Given the description of an element on the screen output the (x, y) to click on. 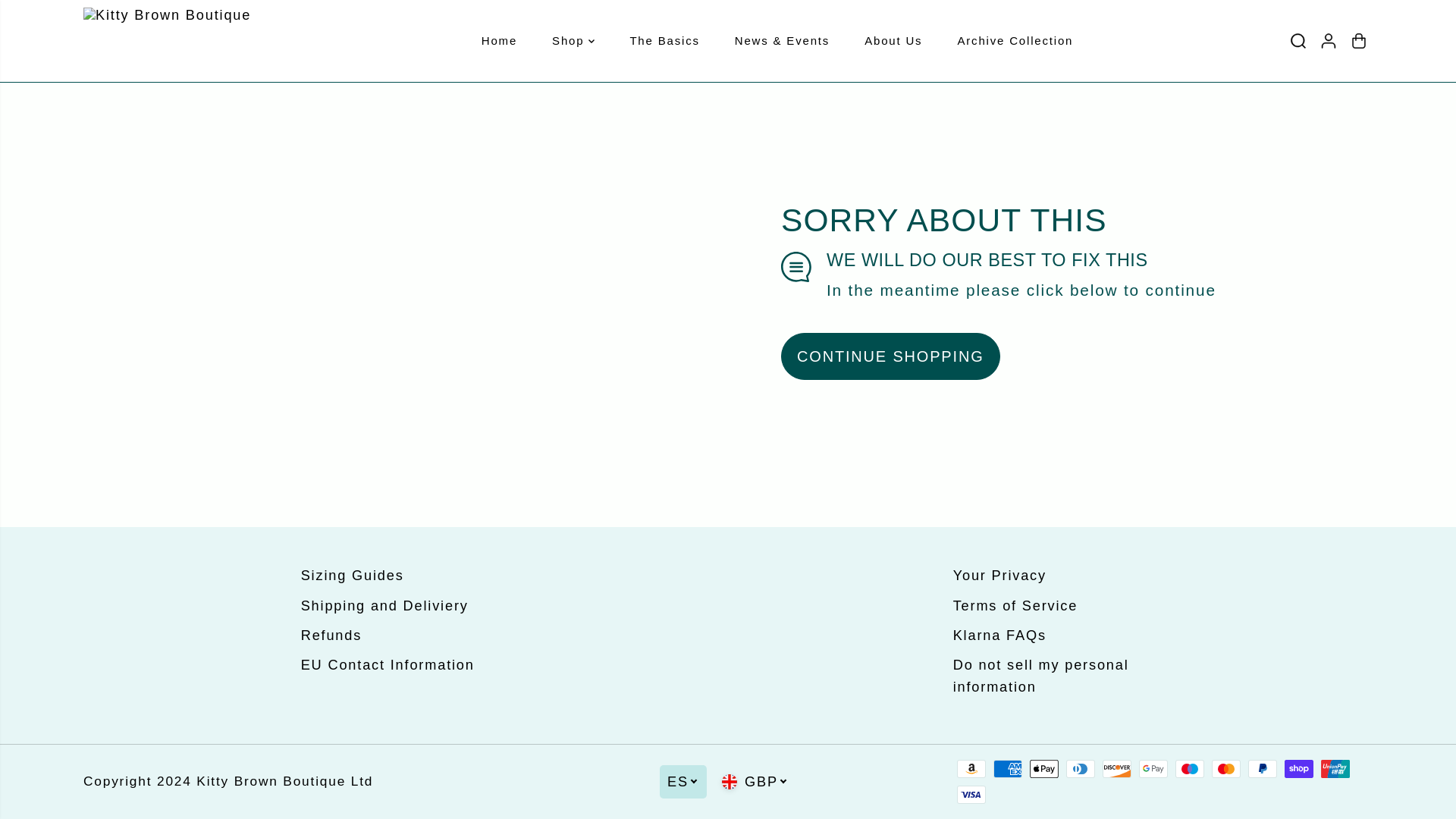
Mastercard (1225, 769)
Carro (1359, 40)
Diners Club (1079, 769)
American Express (1007, 769)
Discover (1116, 769)
SALTAR AL CONTENIDO (60, 18)
Shop (572, 40)
Buscar (1297, 40)
Amazon (970, 769)
Maestro (1189, 769)
PayPal (1261, 769)
Union Pay (1334, 769)
Shop Pay (1298, 769)
Home (499, 40)
Google Pay (1152, 769)
